Given the description of an element on the screen output the (x, y) to click on. 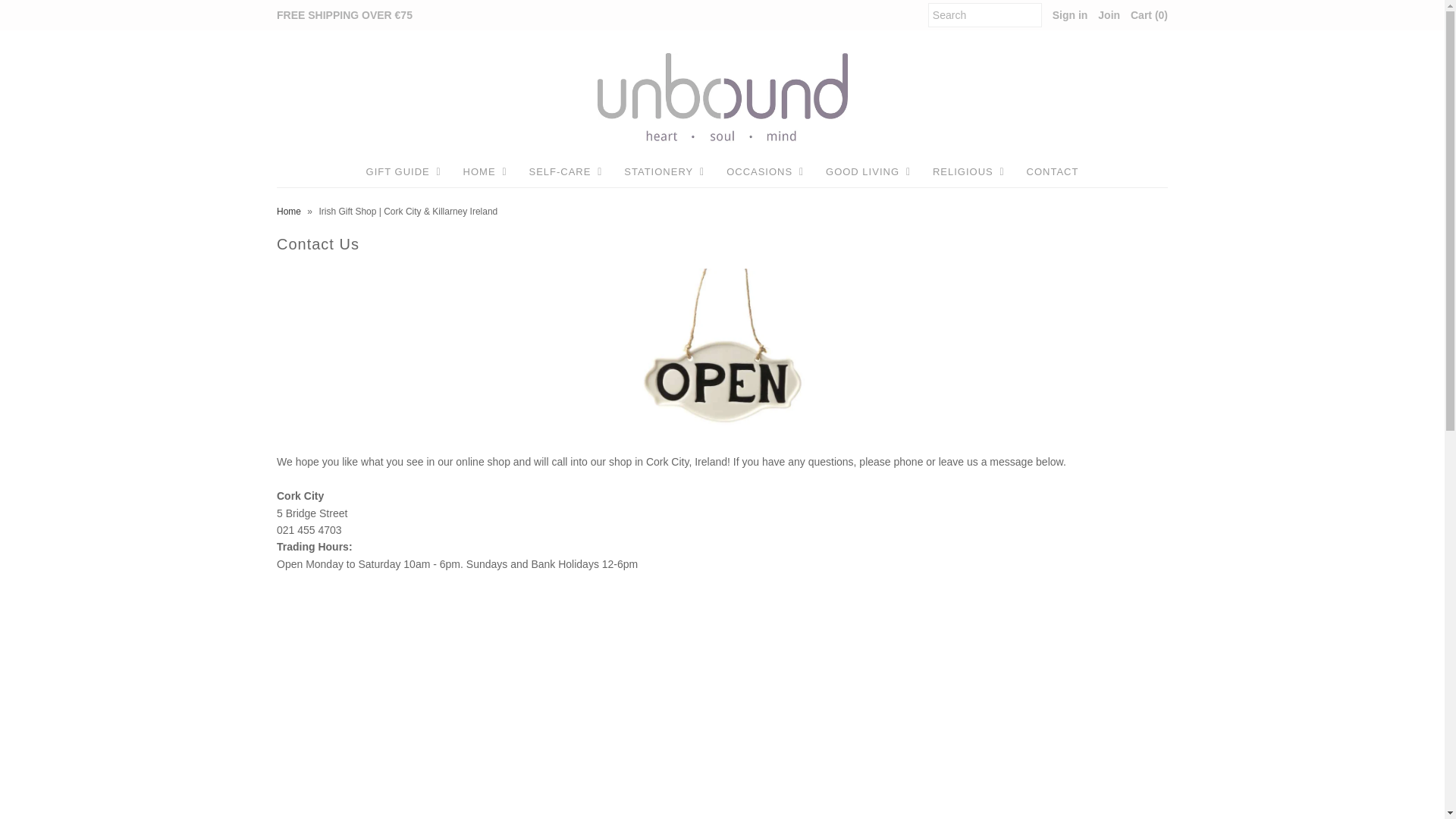
Back to the frontpage (290, 211)
